Given the description of an element on the screen output the (x, y) to click on. 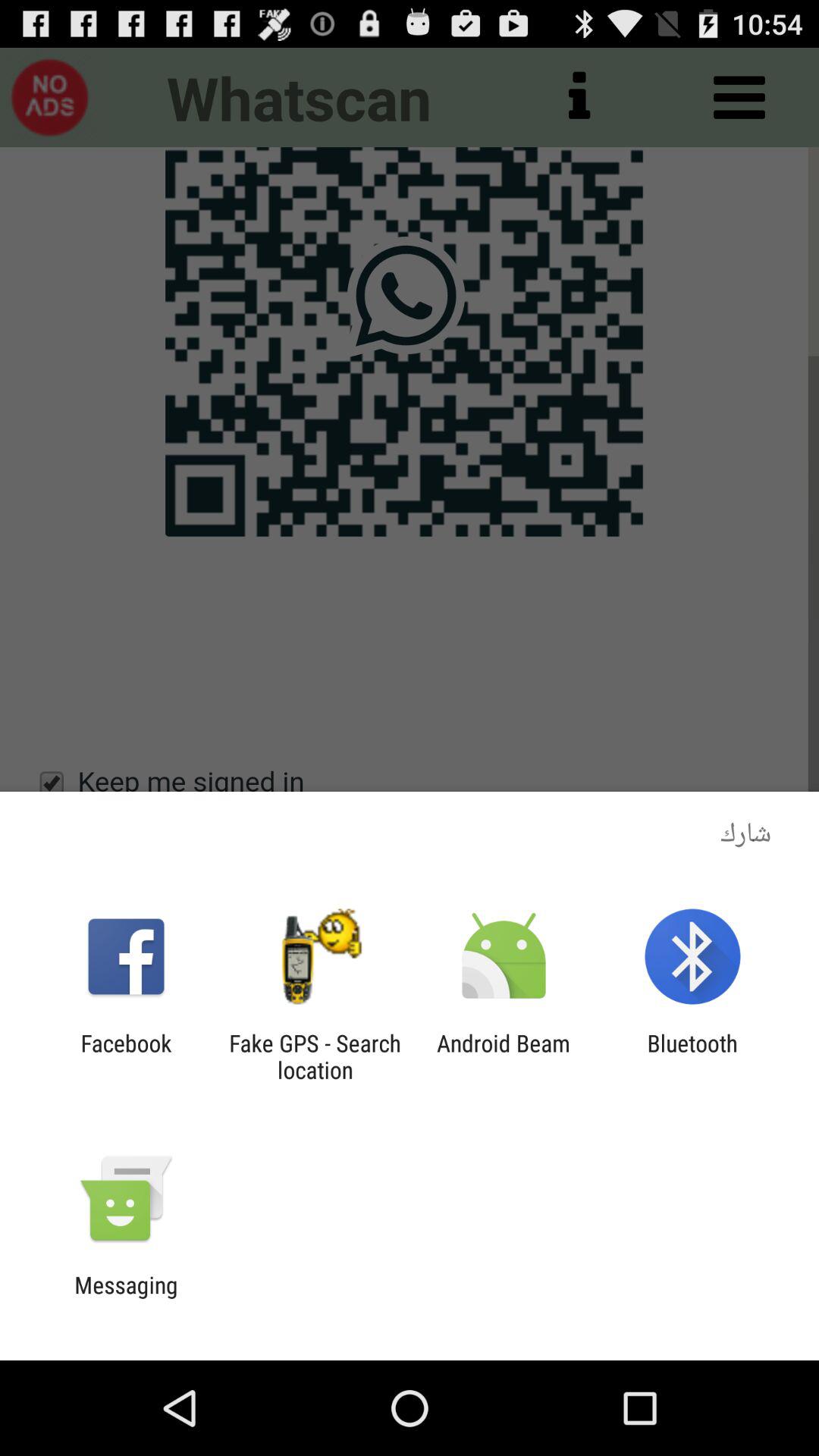
press icon next to the bluetooth item (503, 1056)
